Given the description of an element on the screen output the (x, y) to click on. 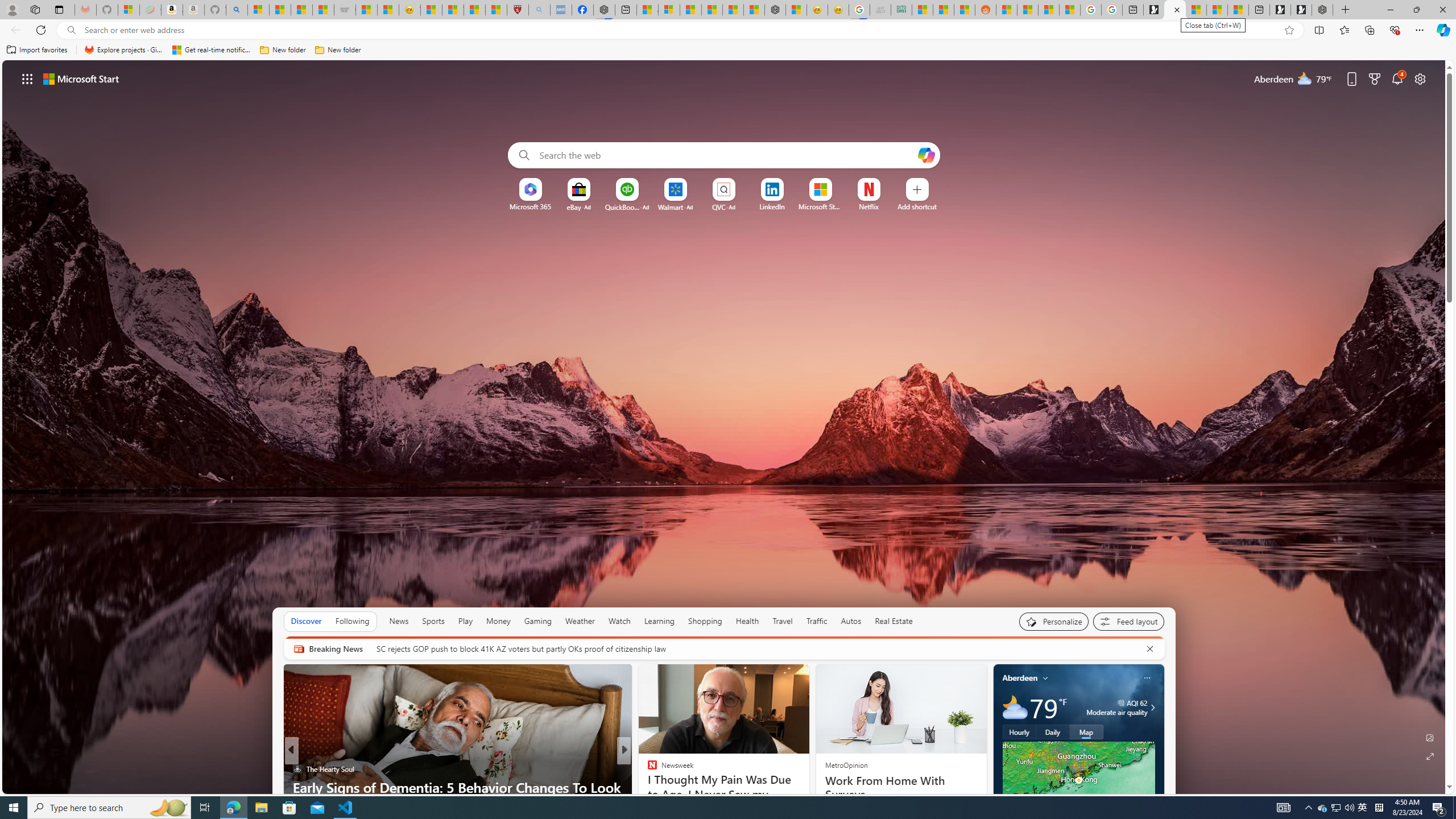
save70.com (660, 768)
Autos (851, 621)
Expand background (1430, 756)
Moneywise (647, 768)
XDA Developers (647, 768)
Personalize your feed" (1054, 621)
Mostly cloudy (1014, 707)
New folder (337, 49)
